Given the description of an element on the screen output the (x, y) to click on. 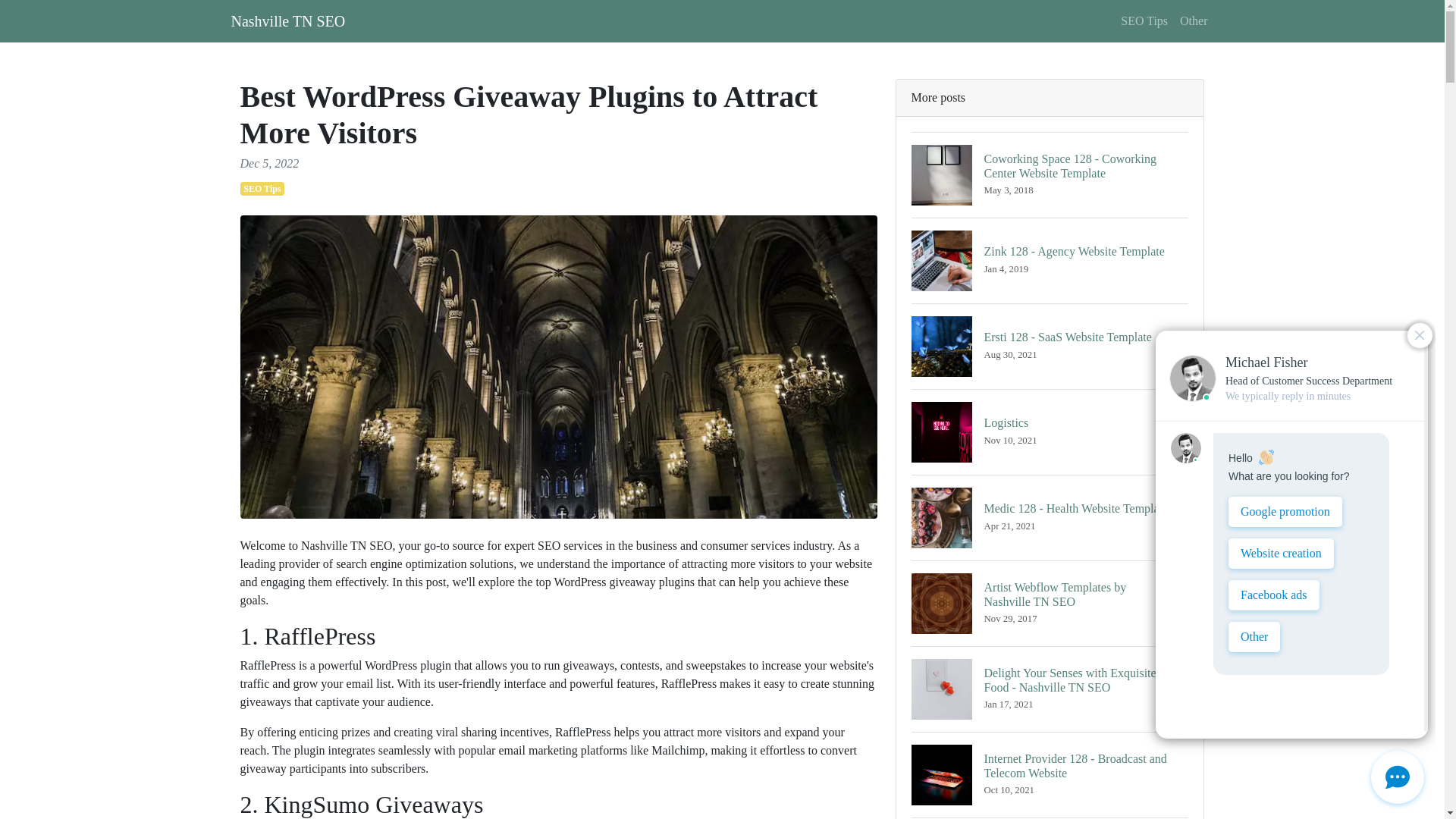
Nashville TN SEO (287, 20)
SEO Tips (1050, 346)
Other (1144, 20)
